Given the description of an element on the screen output the (x, y) to click on. 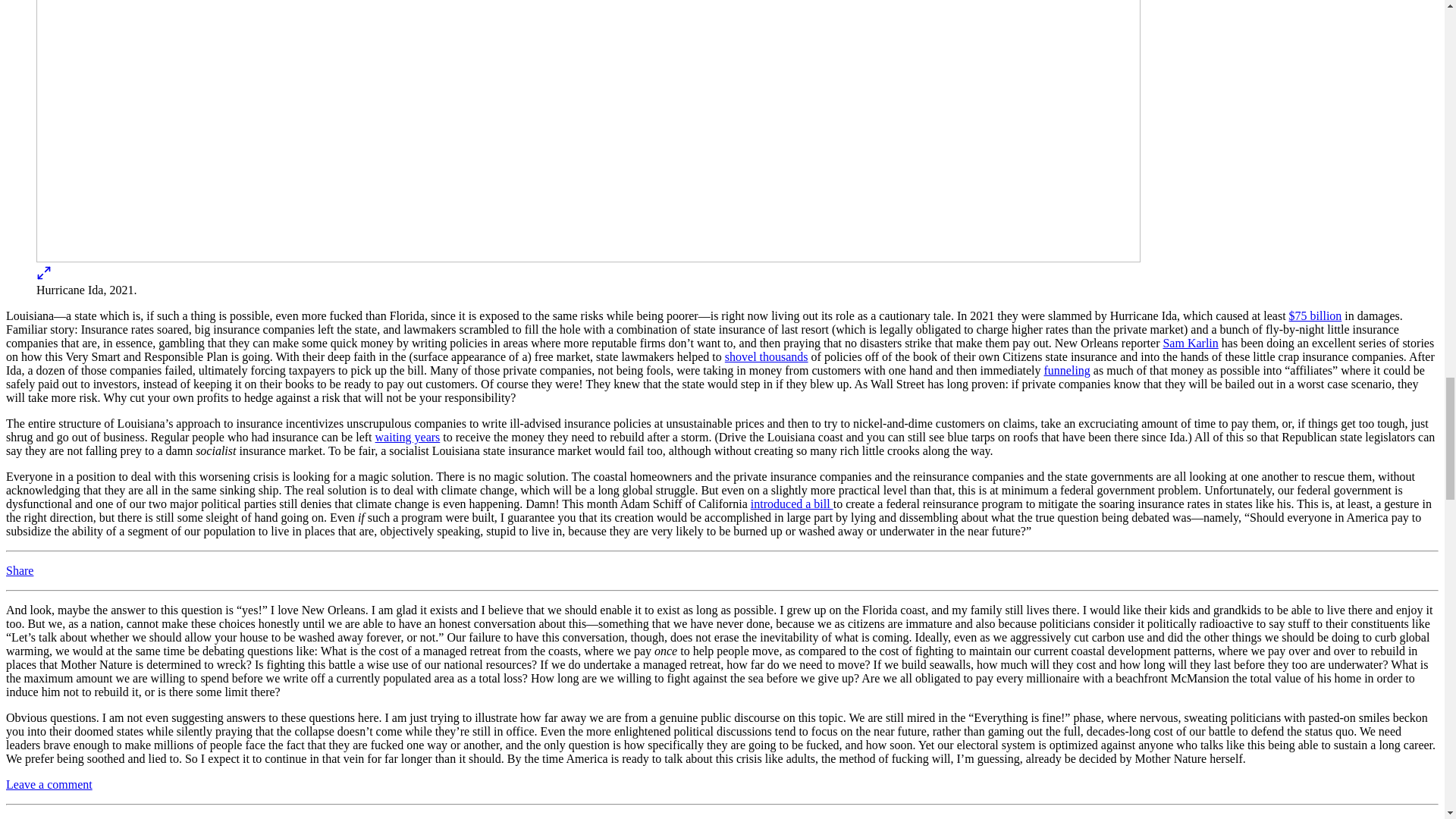
Leave a comment (49, 784)
funneling (1066, 369)
Sam Karlin (1189, 342)
shovel thousands (766, 356)
Share (19, 570)
introduced a bill (791, 503)
waiting years (408, 436)
